Given the description of an element on the screen output the (x, y) to click on. 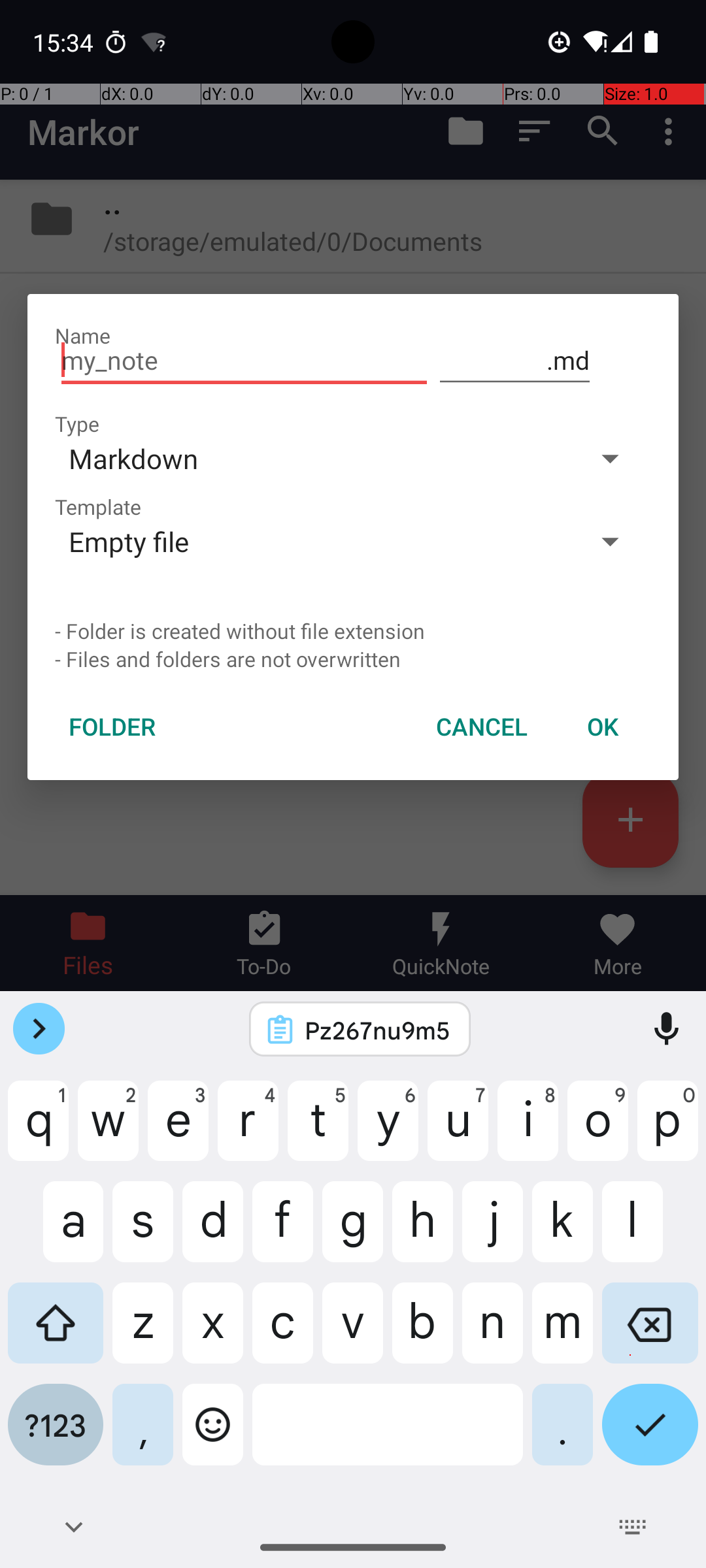
Pz267nu9m5 Element type: android.widget.TextView (376, 1029)
